Given the description of an element on the screen output the (x, y) to click on. 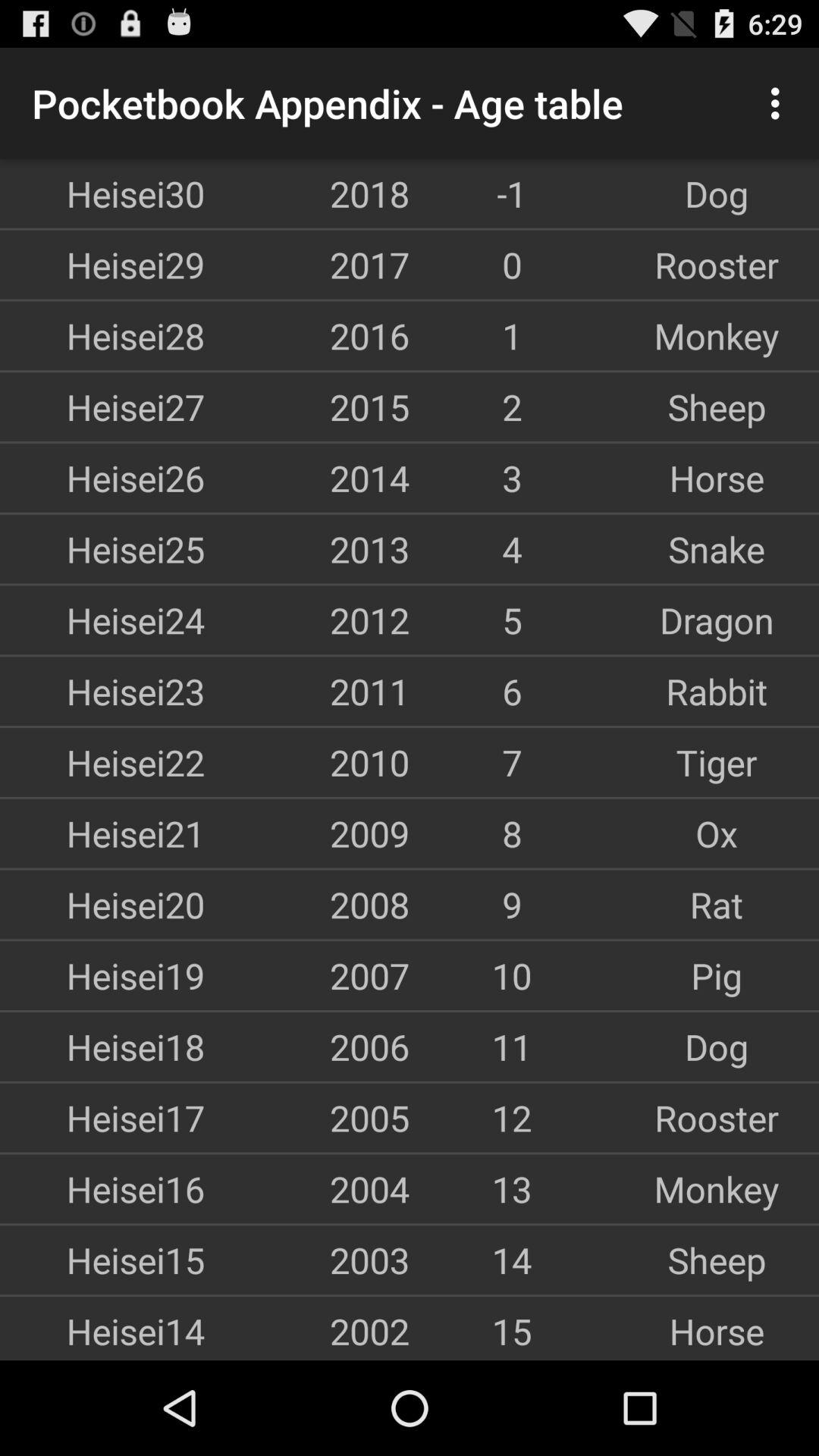
choose the item next to the 11 icon (306, 1046)
